Given the description of an element on the screen output the (x, y) to click on. 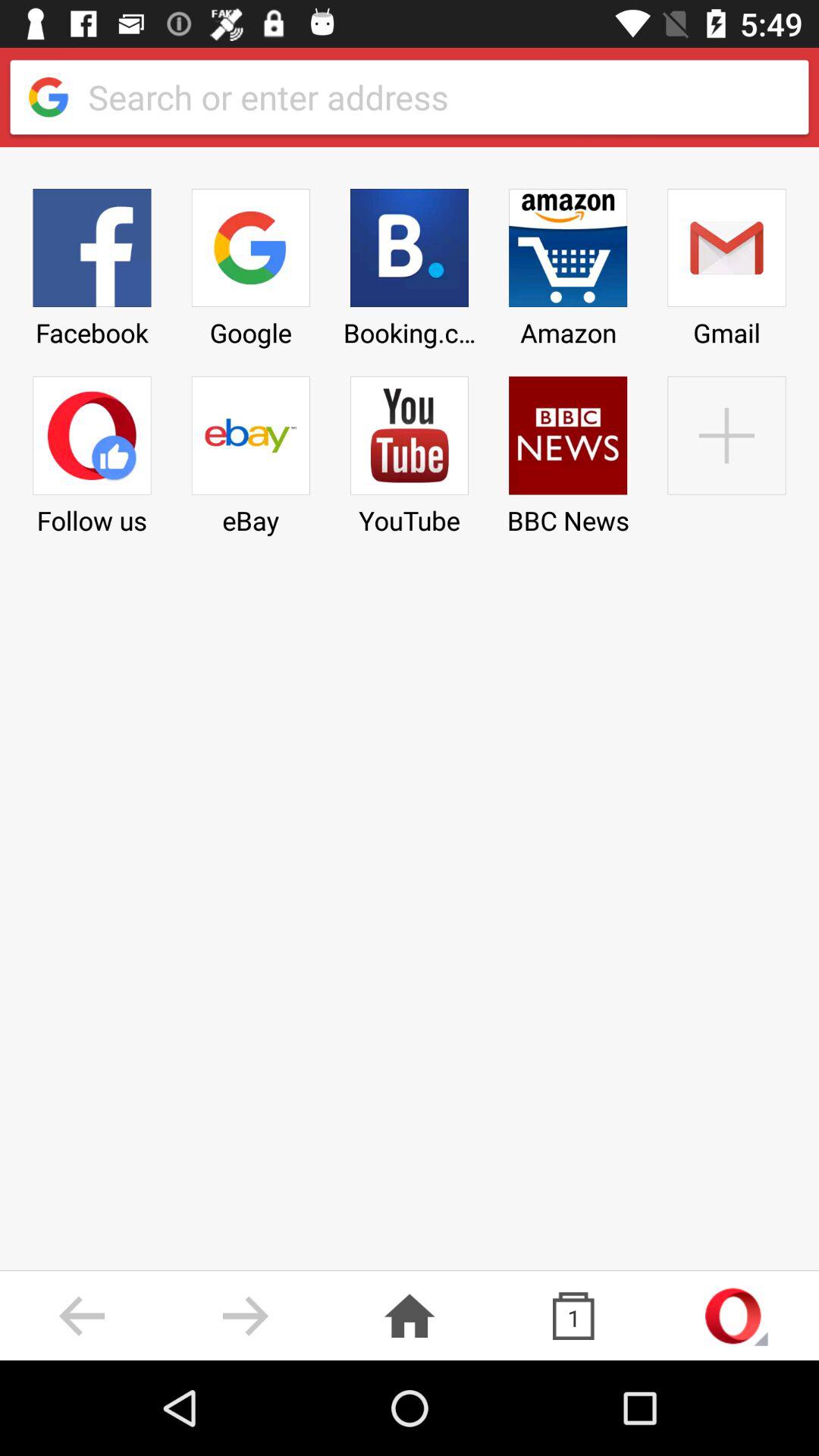
choose the facebook icon (92, 262)
